Given the description of an element on the screen output the (x, y) to click on. 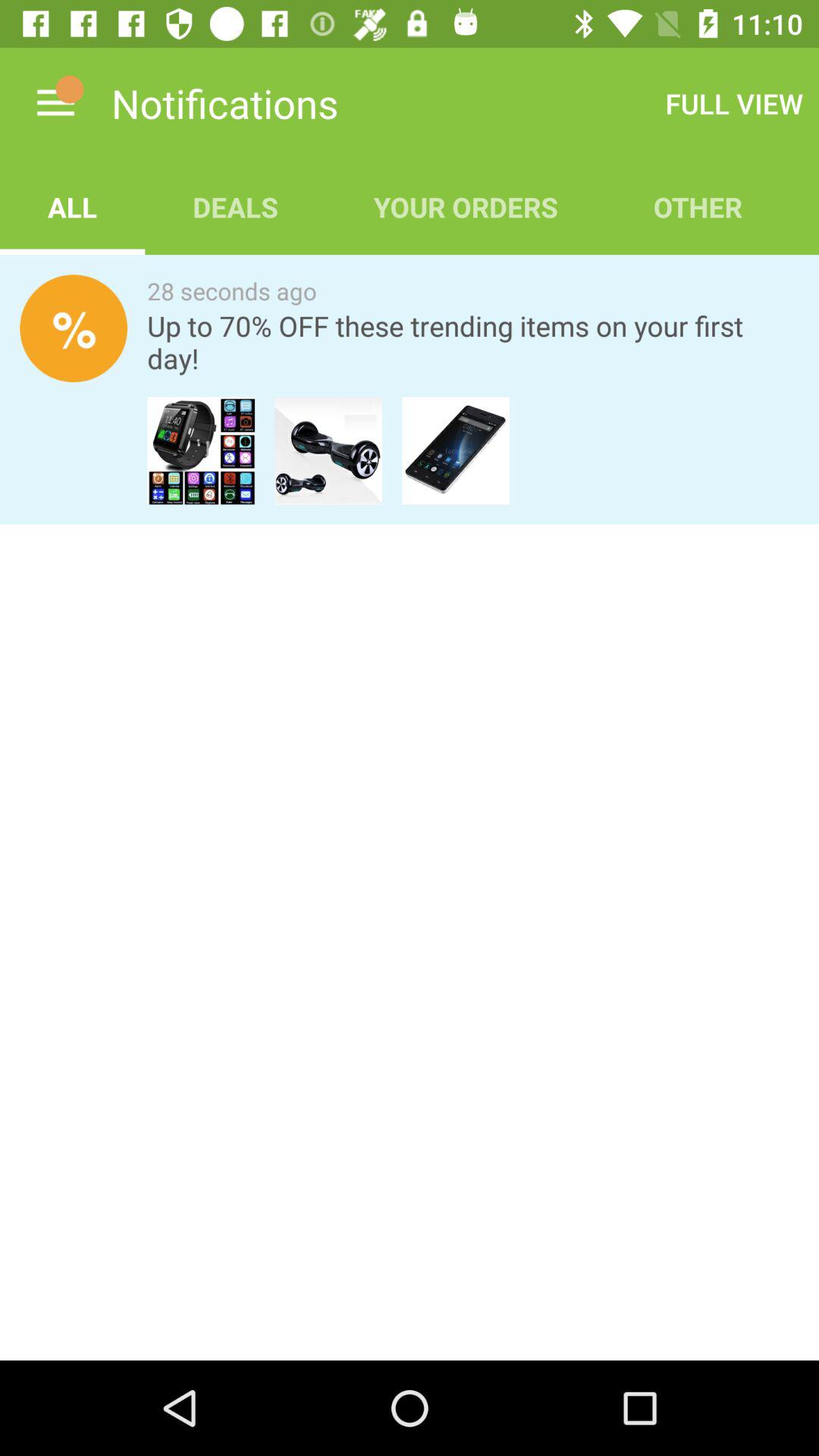
turn off the icon below the notifications icon (235, 206)
